Given the description of an element on the screen output the (x, y) to click on. 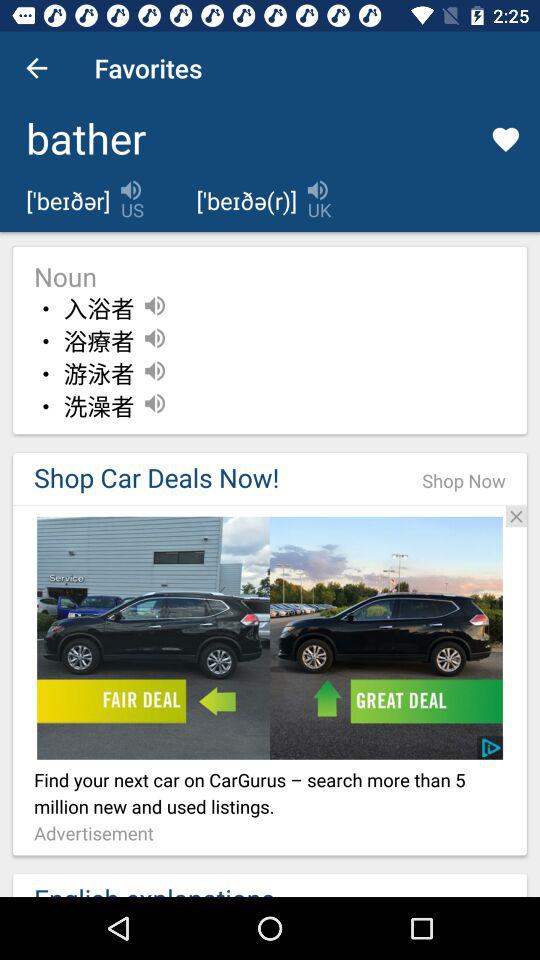
swipe until the advertisement item (99, 833)
